Given the description of an element on the screen output the (x, y) to click on. 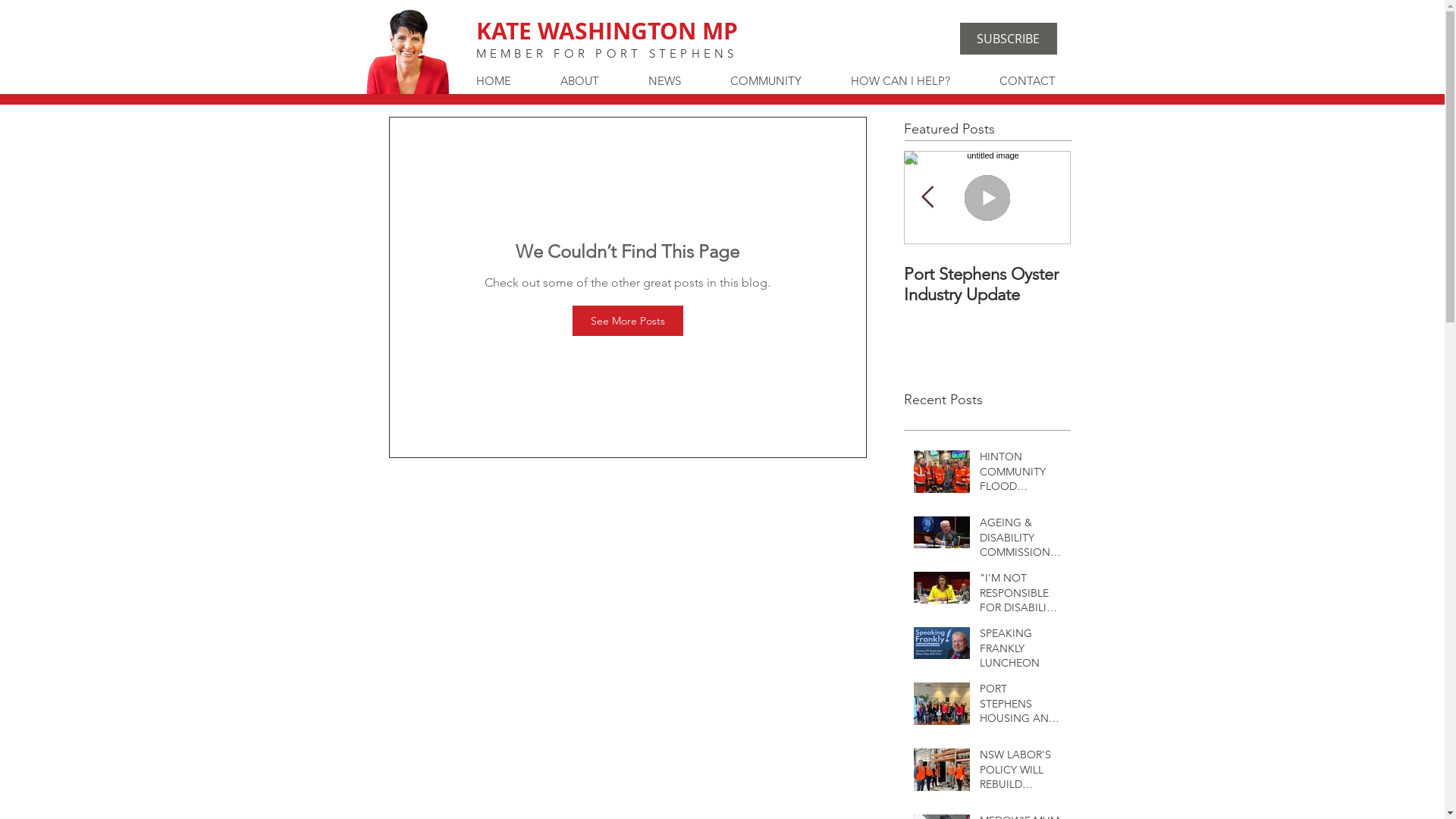
HINTON COMMUNITY FLOOD MEETING: TONIGHT Element type: text (1020, 474)
SUBSCRIBE Element type: text (1008, 38)
KATE WASHINGTON MP Element type: text (606, 30)
See More Posts Element type: text (626, 320)
Port Stephens Oyster Industry Update Element type: text (986, 283)
HOW CAN I HELP? Element type: text (912, 81)
ABOUT Element type: text (593, 81)
COMMUNITY Element type: text (778, 81)
NEWS Element type: text (677, 81)
SPEAKING FRANKLY LUNCHEON Element type: text (1020, 651)
HOME Element type: text (506, 81)
CONTACT Element type: text (1039, 81)
